Given the description of an element on the screen output the (x, y) to click on. 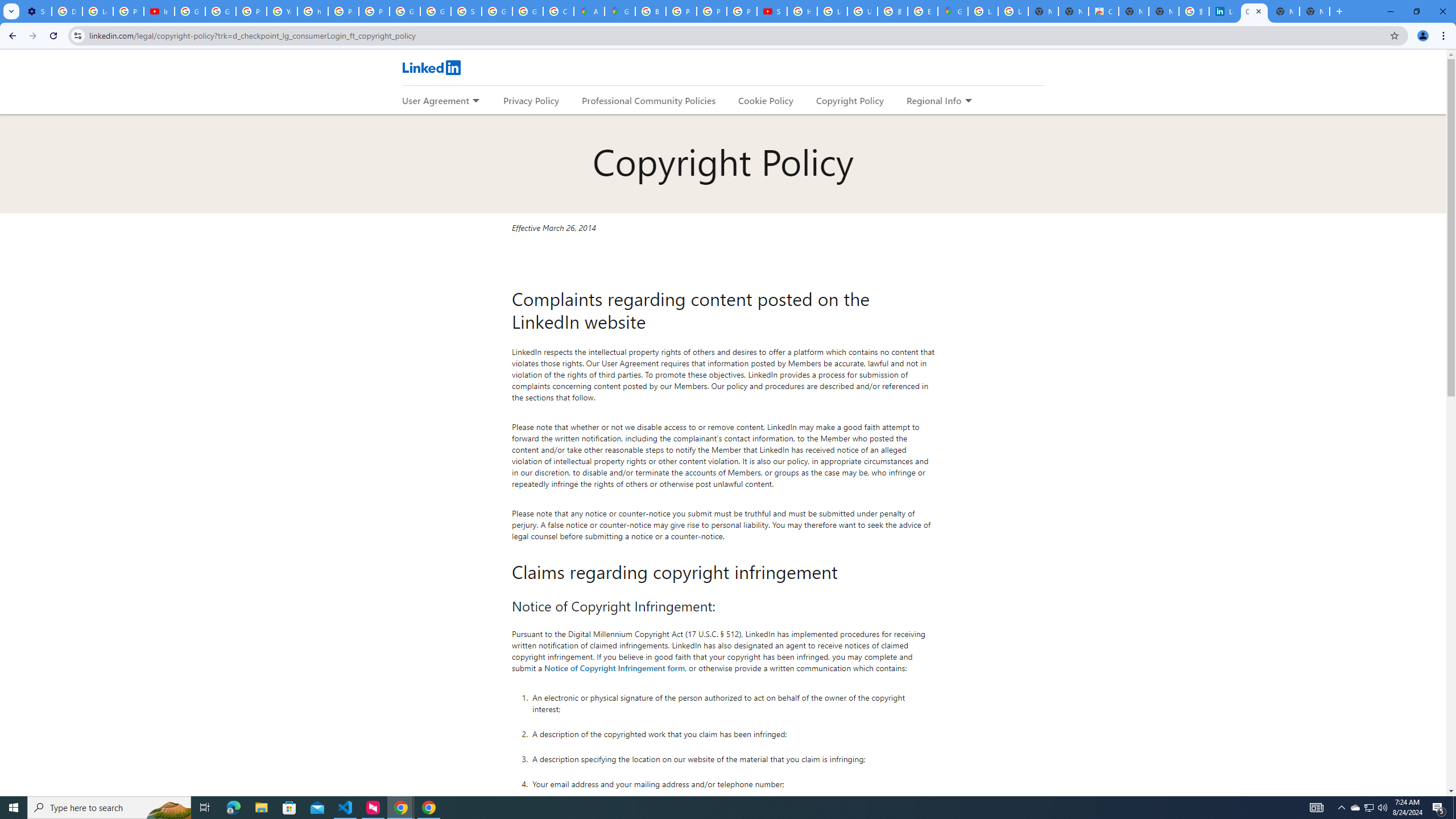
Privacy Help Center - Policies Help (711, 11)
LinkedIn Login, Sign in | LinkedIn (1224, 11)
YouTube (282, 11)
Expand to show more links for Regional Info (967, 101)
Google Maps (952, 11)
Copyright Policy (1254, 11)
Settings - Customize profile (36, 11)
